Given the description of an element on the screen output the (x, y) to click on. 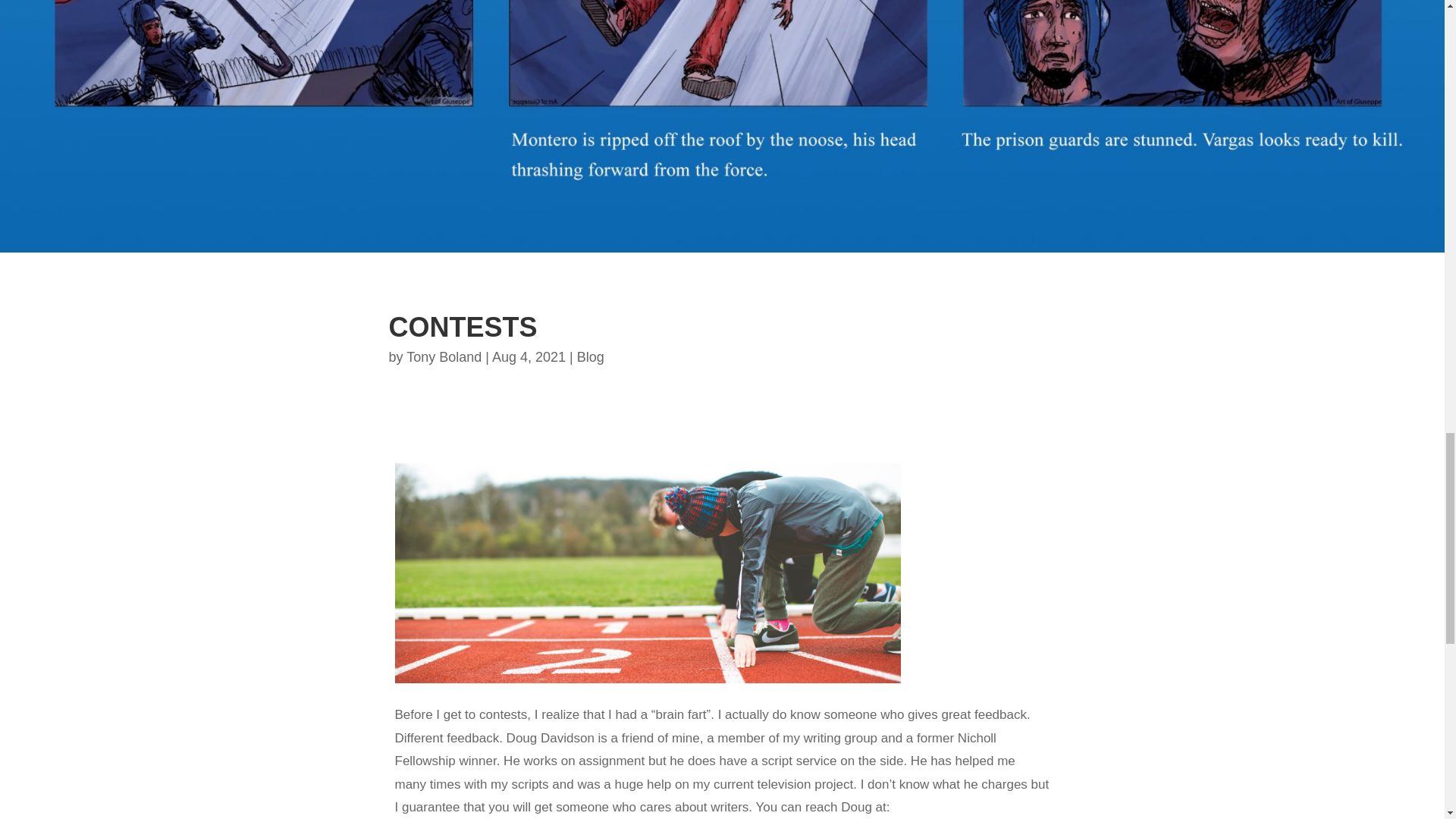
Tony Boland (443, 356)
Posts by Tony Boland (443, 356)
Blog (590, 356)
